Given the description of an element on the screen output the (x, y) to click on. 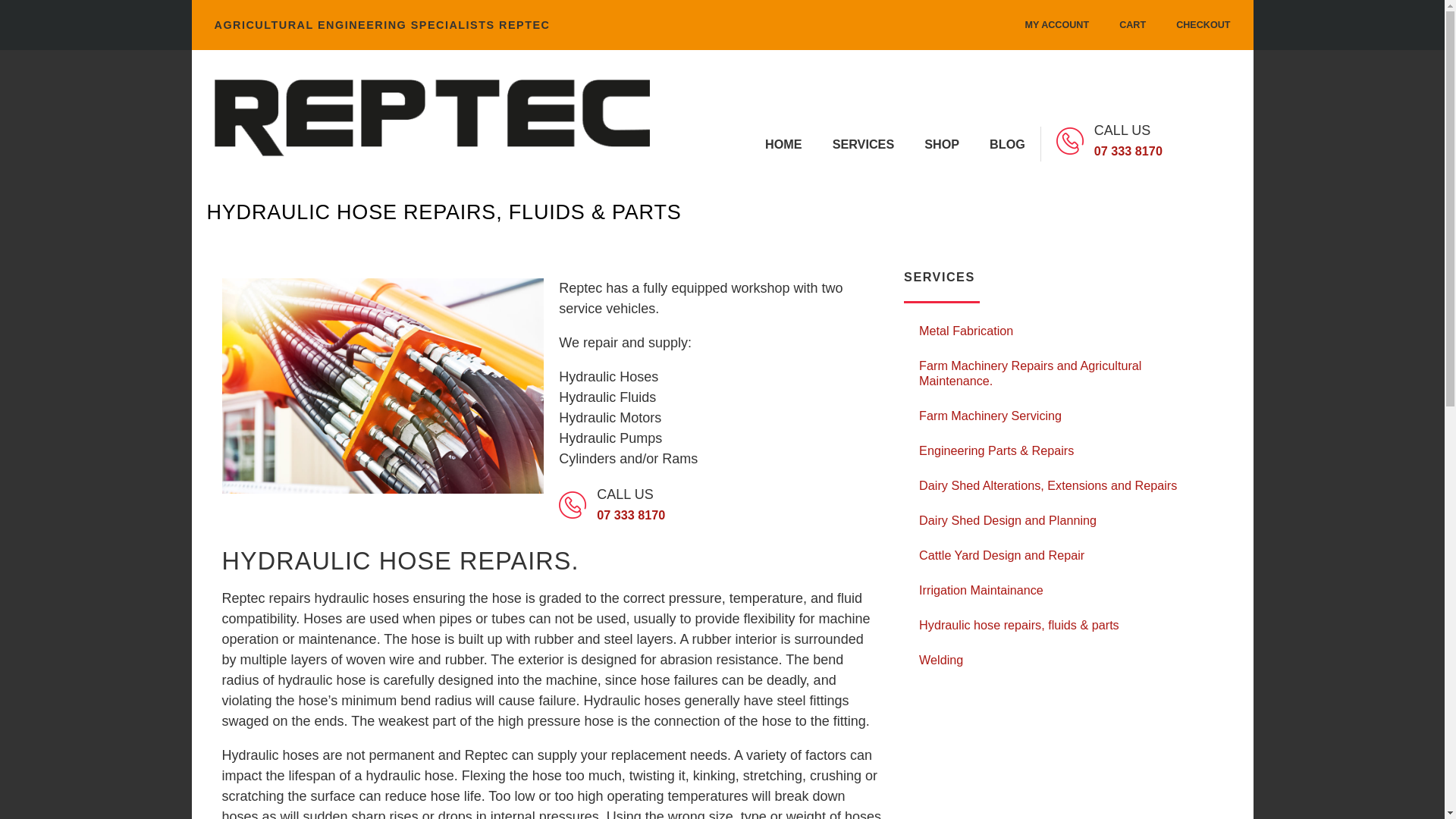
MY ACCOUNT (1056, 24)
HOME (782, 143)
BLOG (1007, 143)
SHOP (941, 143)
Farm Machinery Repairs and Agricultural Maintenance. (1067, 373)
07 333 8170 (630, 514)
CHECKOUT (1202, 24)
CART (1131, 24)
07 333 8170 (1127, 151)
Metal Fabrication (1067, 330)
